Given the description of an element on the screen output the (x, y) to click on. 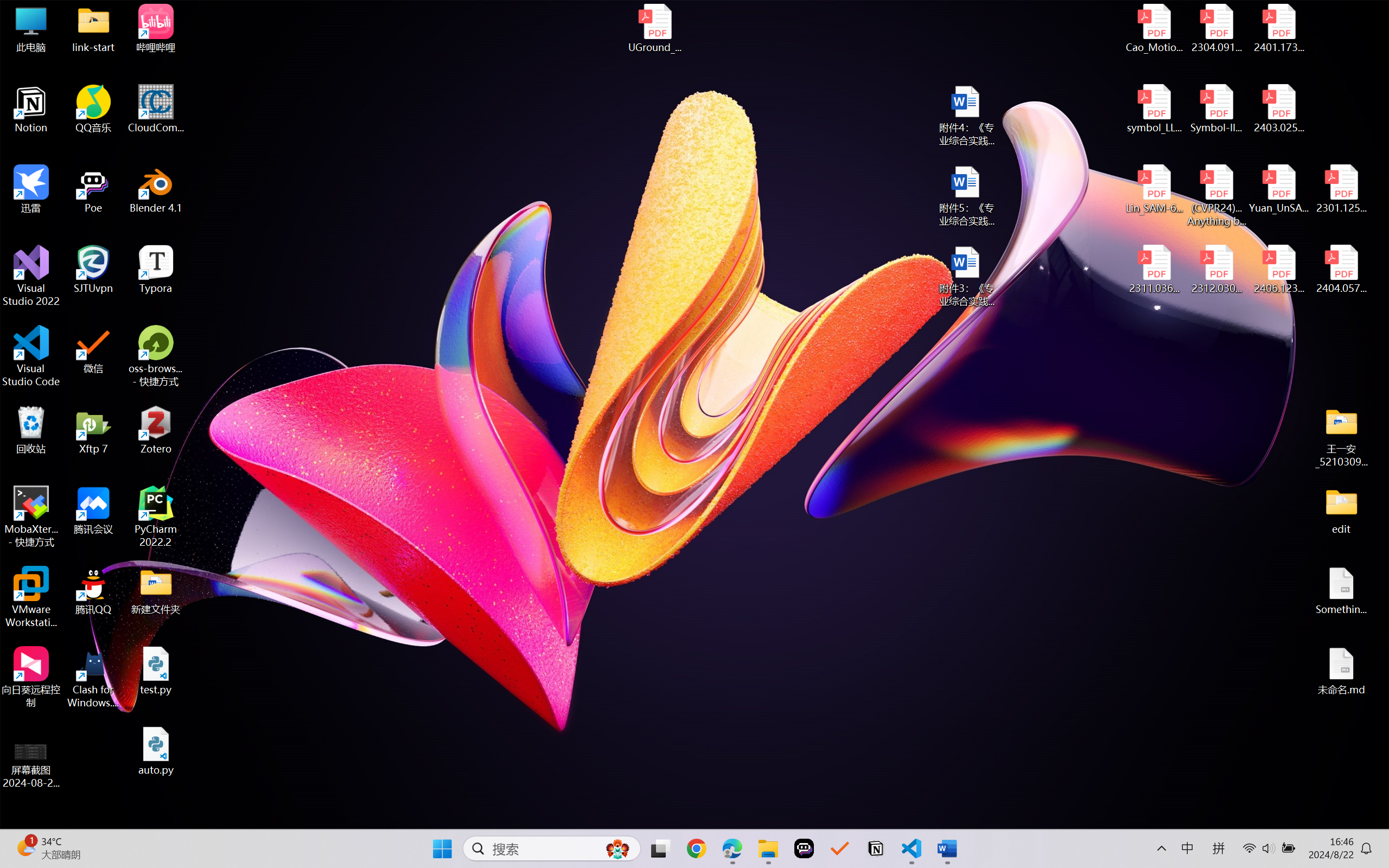
UGround_paper.pdf (654, 28)
test.py (156, 670)
(CVPR24)Matching Anything by Segmenting Anything.pdf (1216, 195)
